Given the description of an element on the screen output the (x, y) to click on. 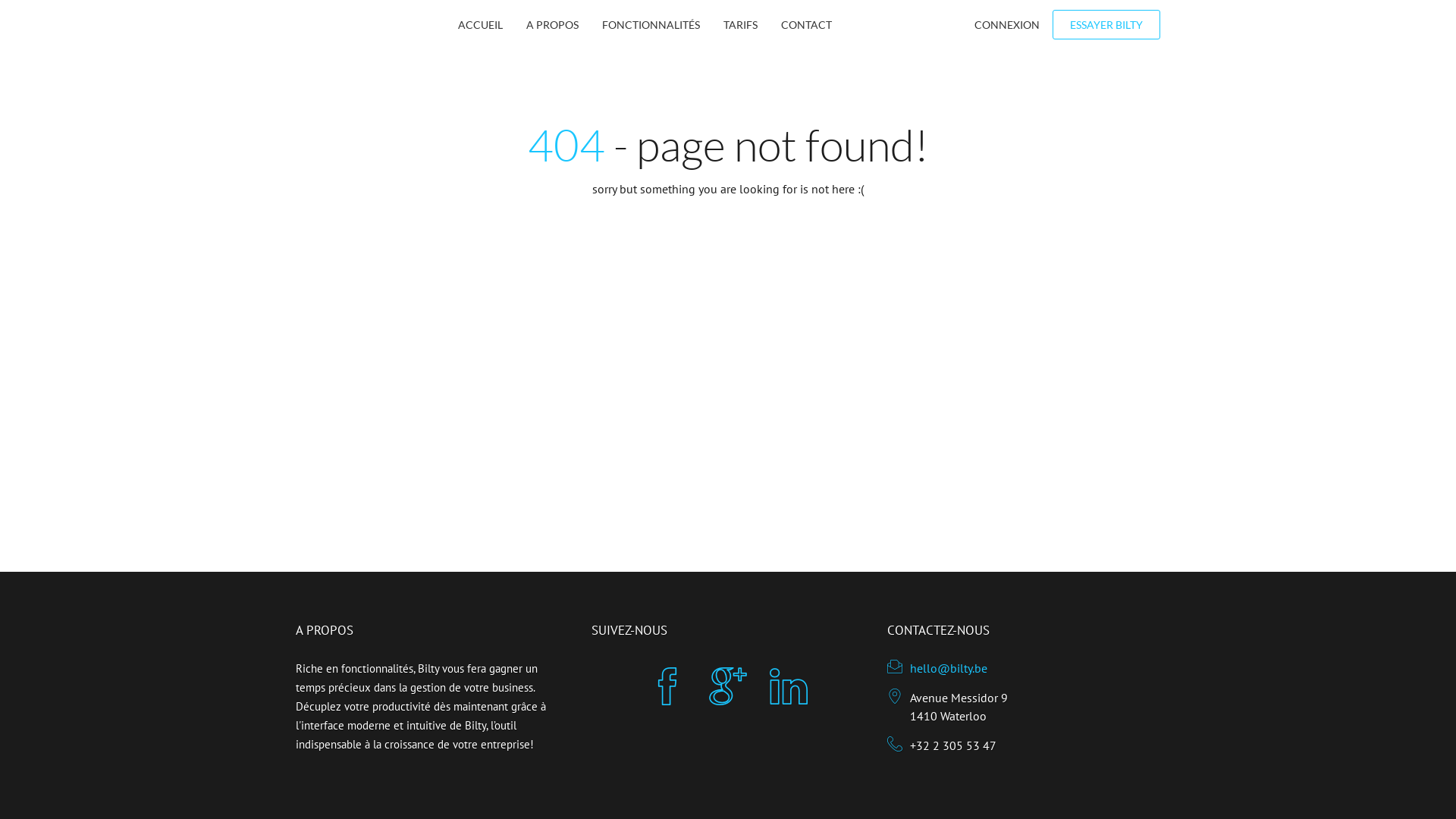
CONTACT Element type: text (806, 24)
ACCUEIL Element type: text (480, 24)
A PROPOS Element type: text (552, 24)
TARIFS Element type: text (740, 24)
ESSAYER BILTY Element type: text (1106, 23)
hello@bilty.be Element type: text (948, 667)
CONNEXION Element type: text (1006, 24)
